Given the description of an element on the screen output the (x, y) to click on. 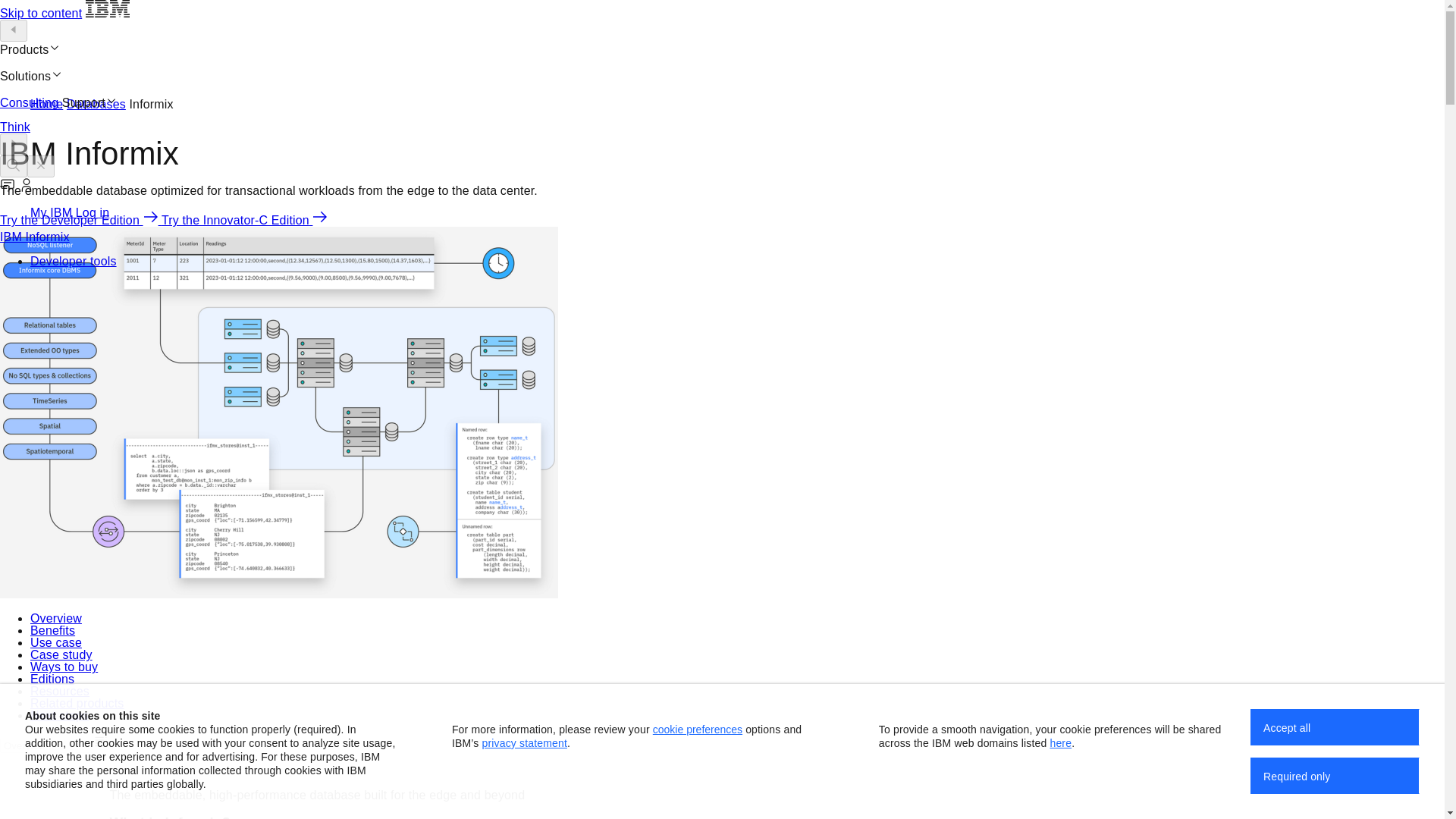
Consulting (31, 102)
Think (15, 126)
cookie preferences (697, 729)
Required only (1334, 775)
here (1060, 743)
Accept all (1334, 727)
privacy statement (524, 743)
